Given the description of an element on the screen output the (x, y) to click on. 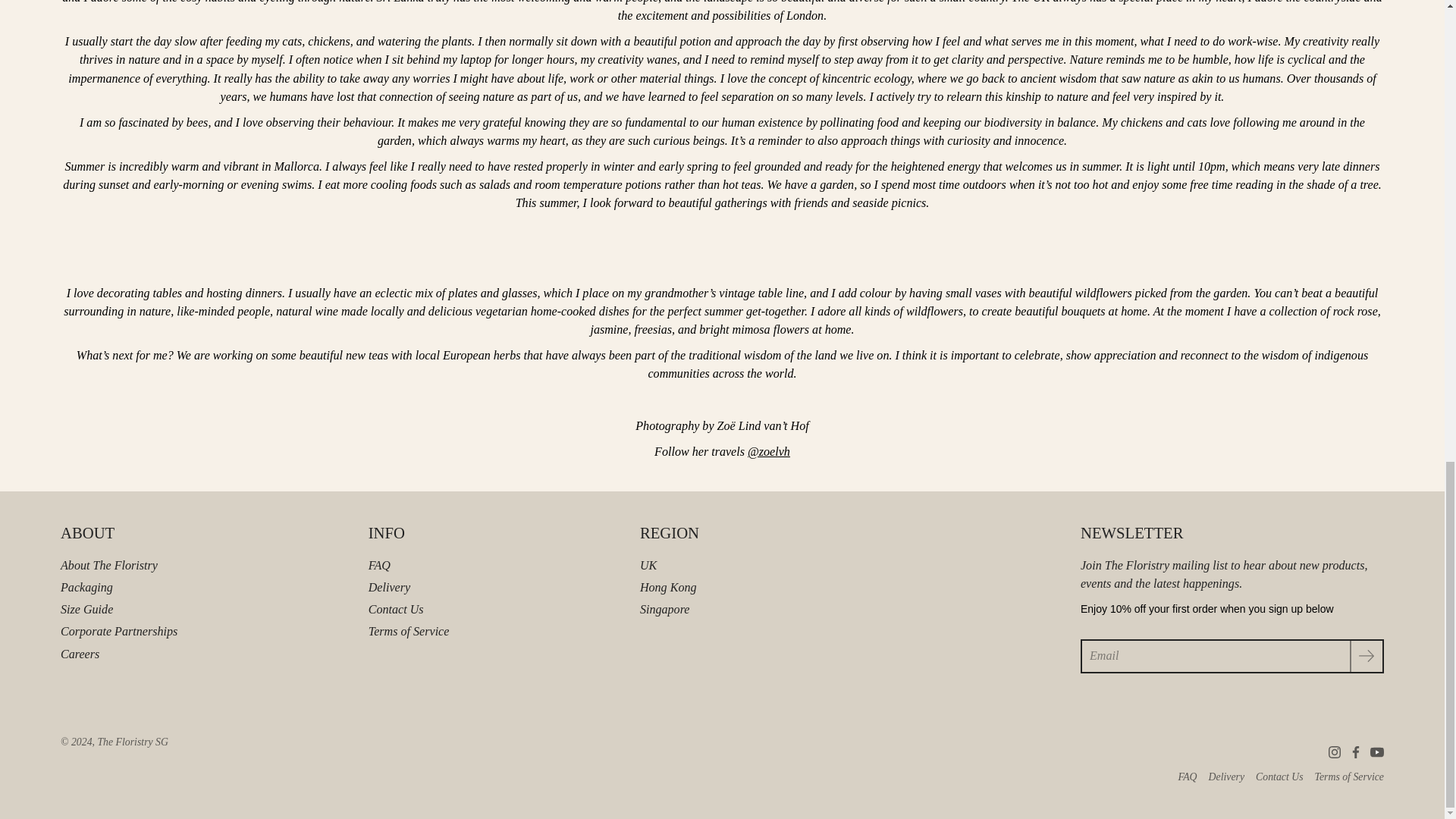
Packaging (87, 586)
About The Floristry (109, 564)
